Given the description of an element on the screen output the (x, y) to click on. 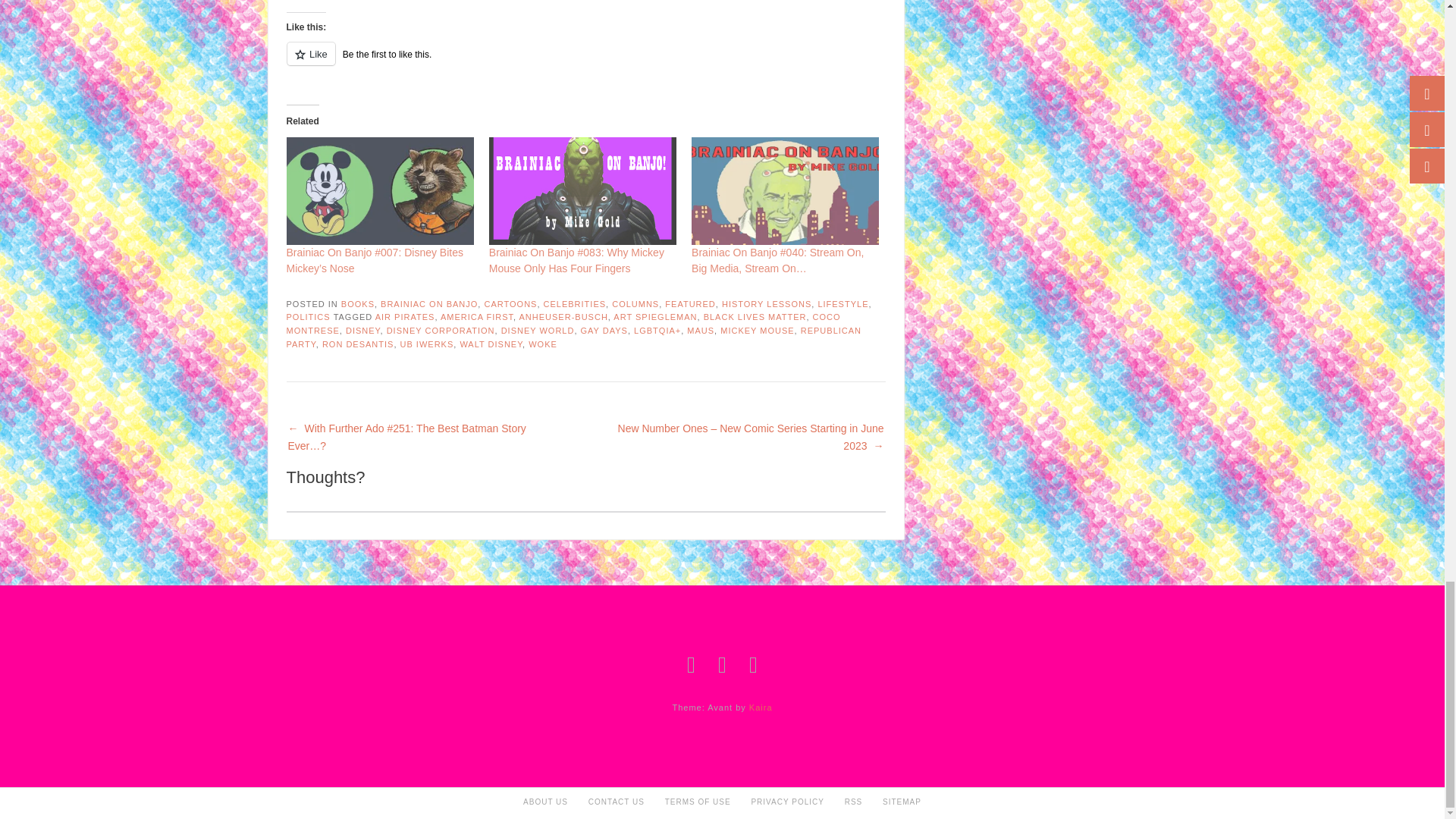
Like or Reblog (585, 62)
